Given the description of an element on the screen output the (x, y) to click on. 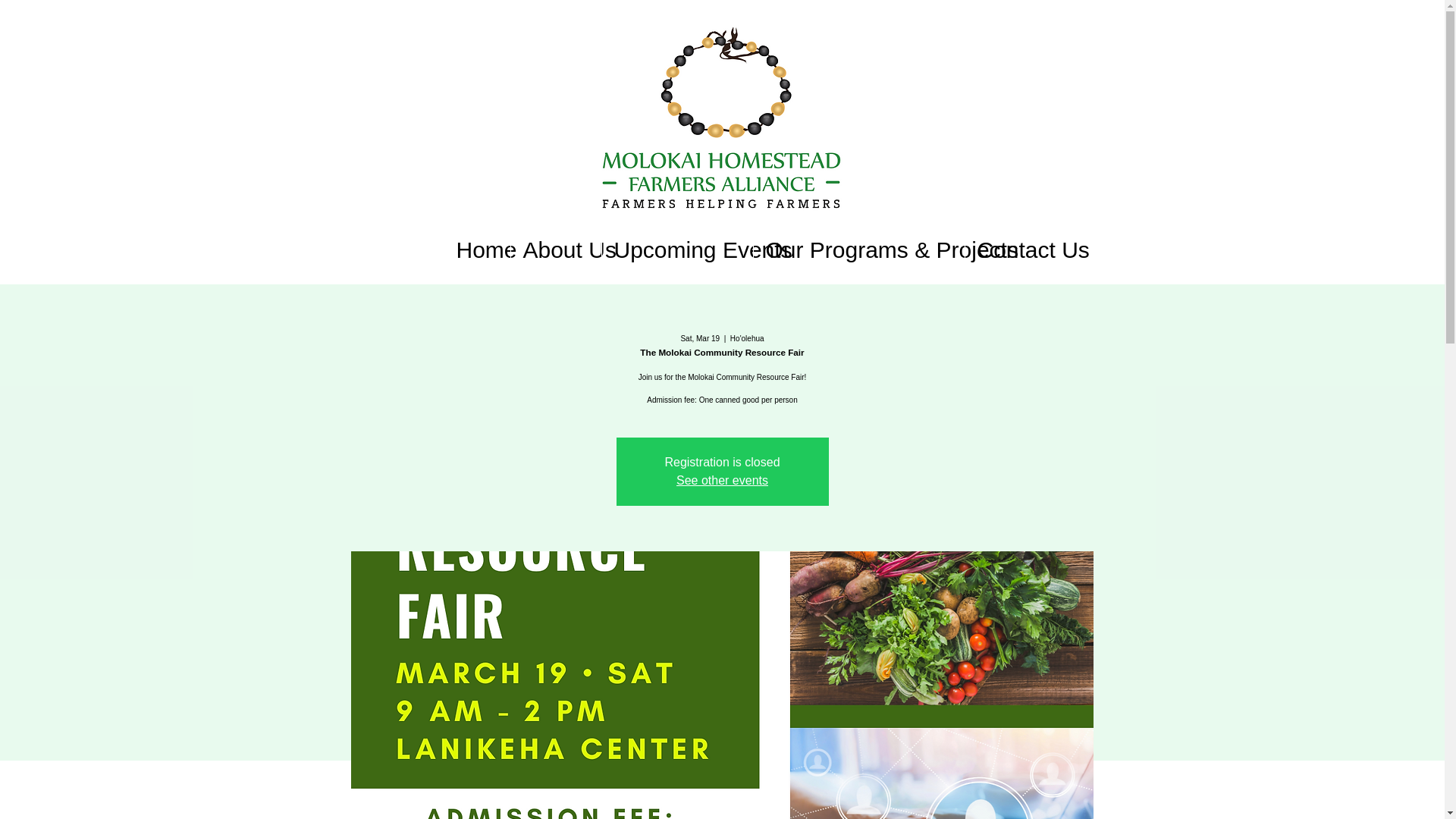
Home (477, 250)
About Us (556, 250)
See other events (722, 480)
Upcoming Events (676, 250)
Contact Us (1015, 250)
